Given the description of an element on the screen output the (x, y) to click on. 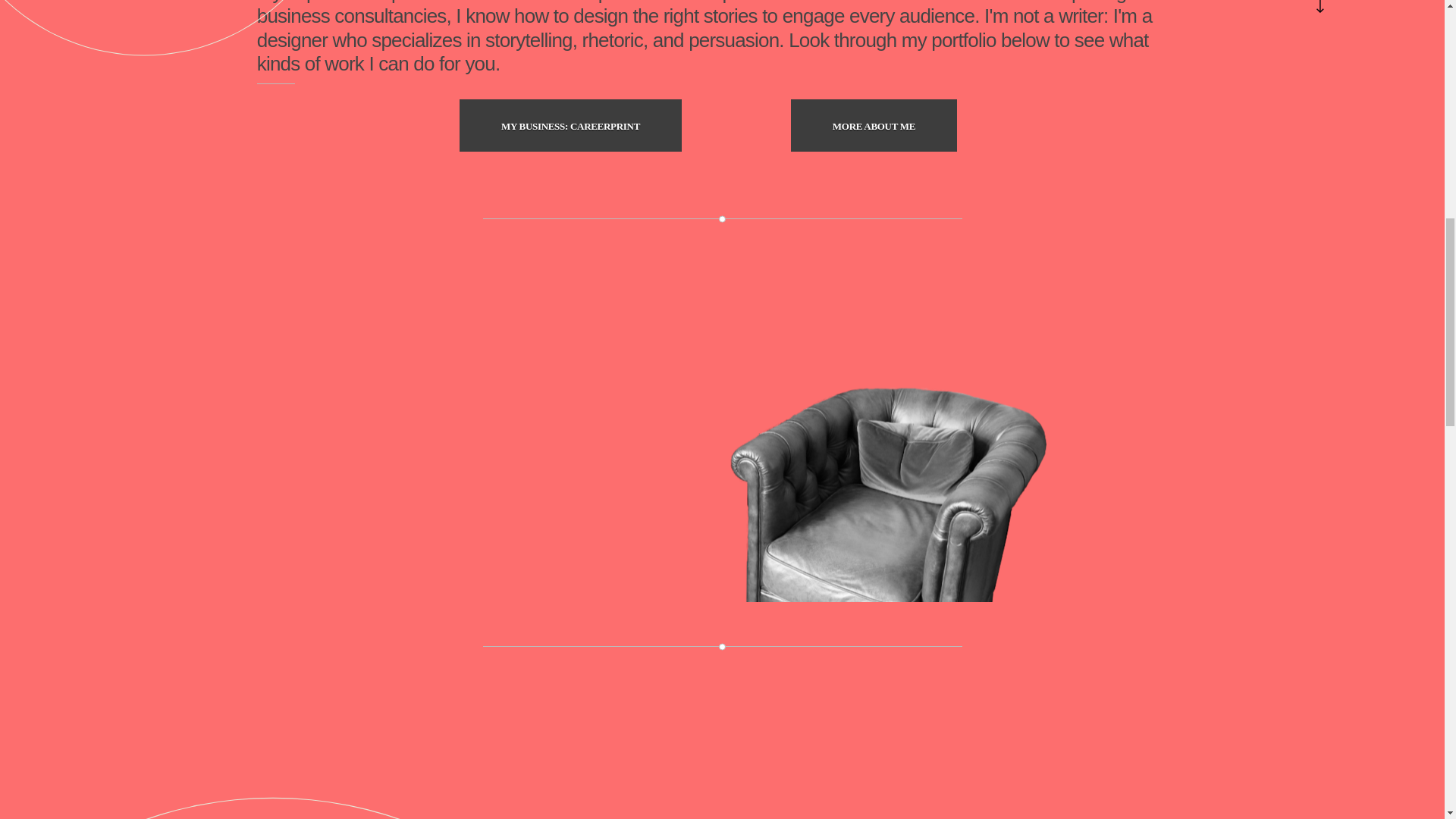
MORE ABOUT ME (873, 125)
MY BUSINESS: CAREERPRINT (570, 125)
